Given the description of an element on the screen output the (x, y) to click on. 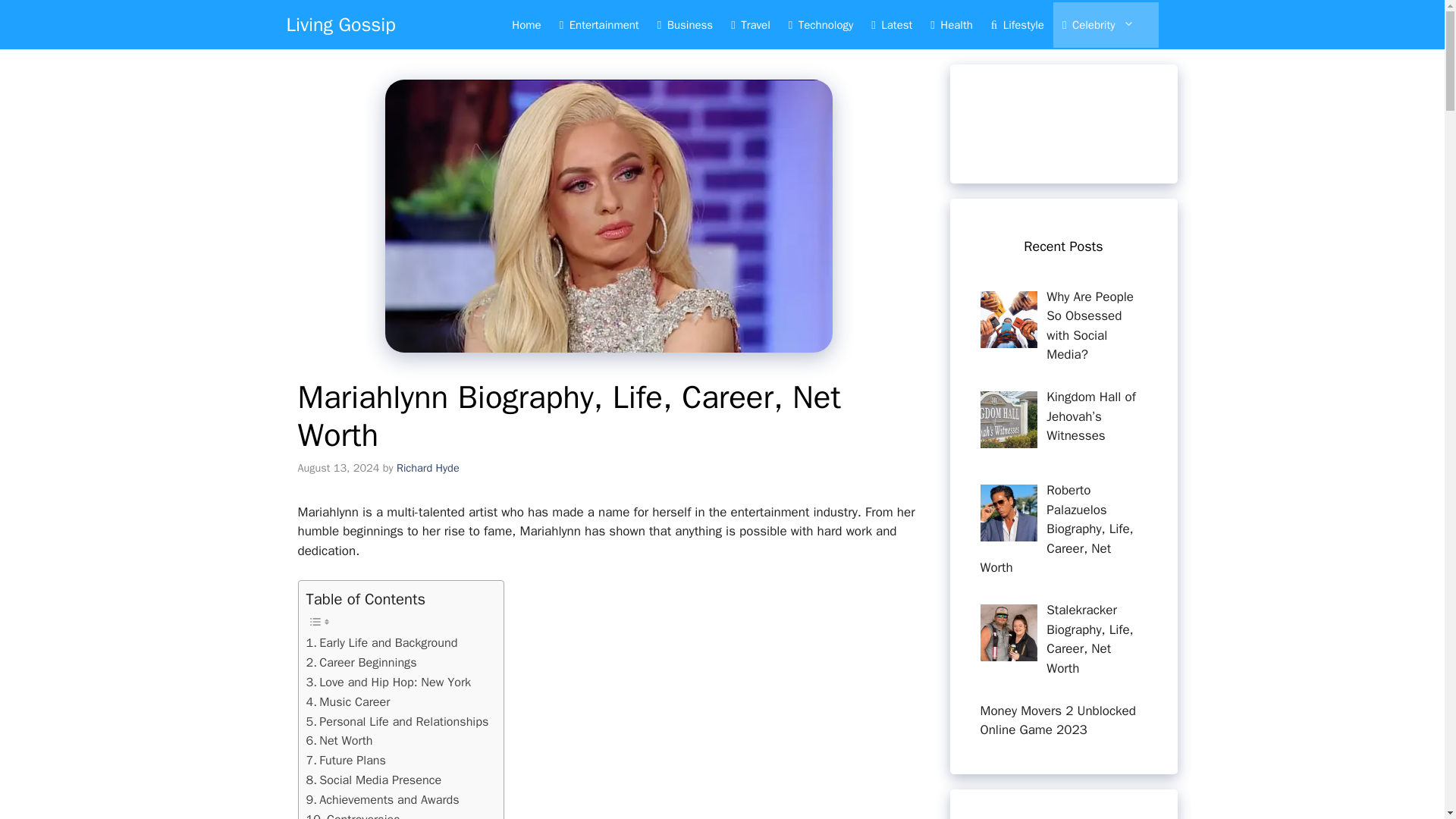
Controversies (352, 814)
Richard Hyde (428, 468)
Technology (820, 23)
Lifestyle (1016, 23)
Music Career (347, 701)
Home (526, 23)
Controversies (352, 814)
Social Media Presence (373, 780)
Celebrity (1105, 23)
Social Media Presence (373, 780)
